Given the description of an element on the screen output the (x, y) to click on. 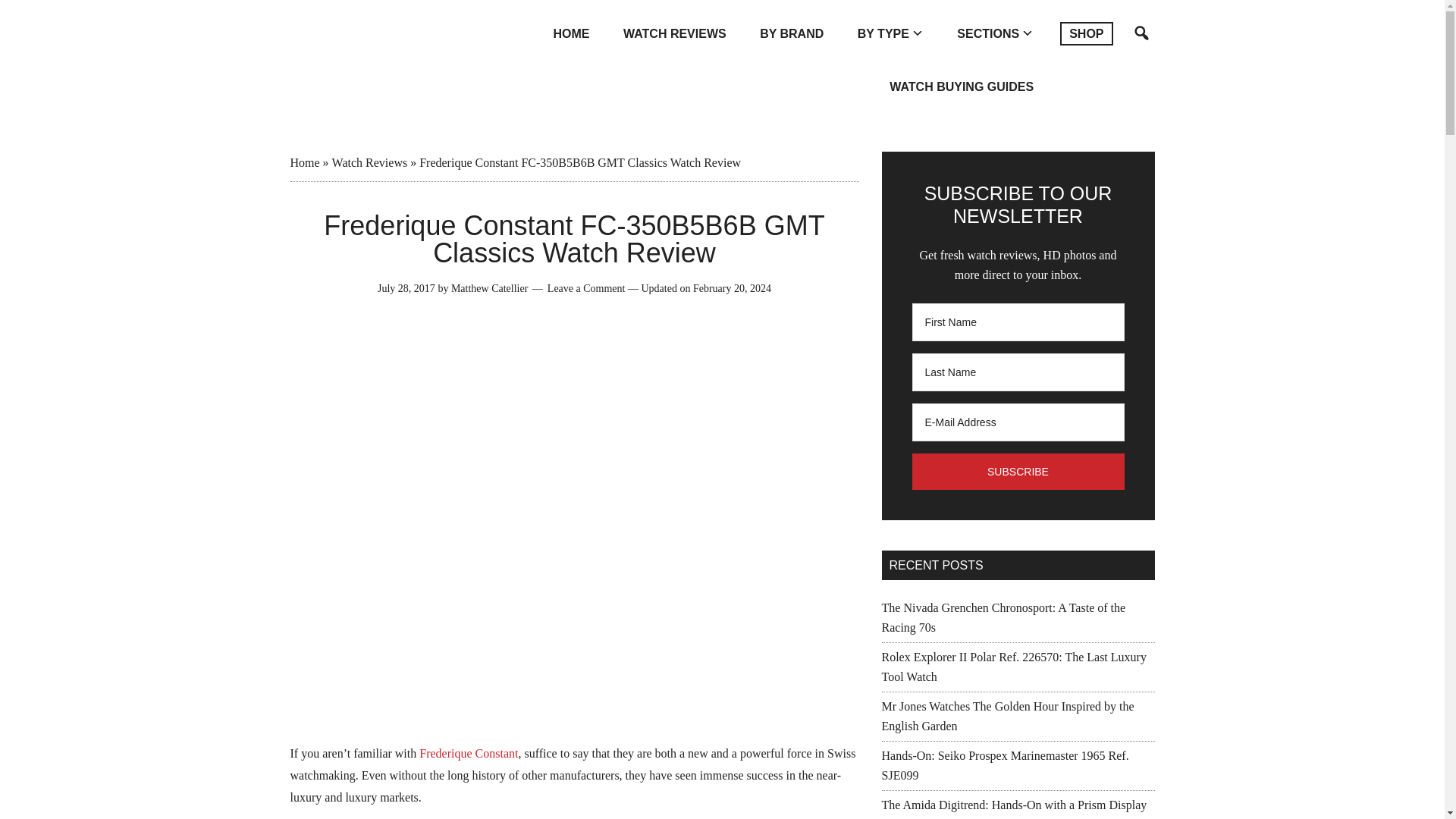
Show Search (1139, 60)
WATCH REVIEWS (674, 33)
Frederique Constant (468, 753)
Watch Reviews (369, 162)
Matthew Catellier (489, 288)
Leave a Comment (586, 288)
WatchReviewBlog (380, 41)
SHOP (1086, 60)
The Nivada Grenchen Chronosport: A Taste of the Racing 70s (1002, 617)
SUBSCRIBE (1017, 471)
BY TYPE (891, 33)
WATCH BUYING GUIDES (961, 86)
HOME (571, 33)
Home (303, 162)
SUBSCRIBE (1017, 471)
